Given the description of an element on the screen output the (x, y) to click on. 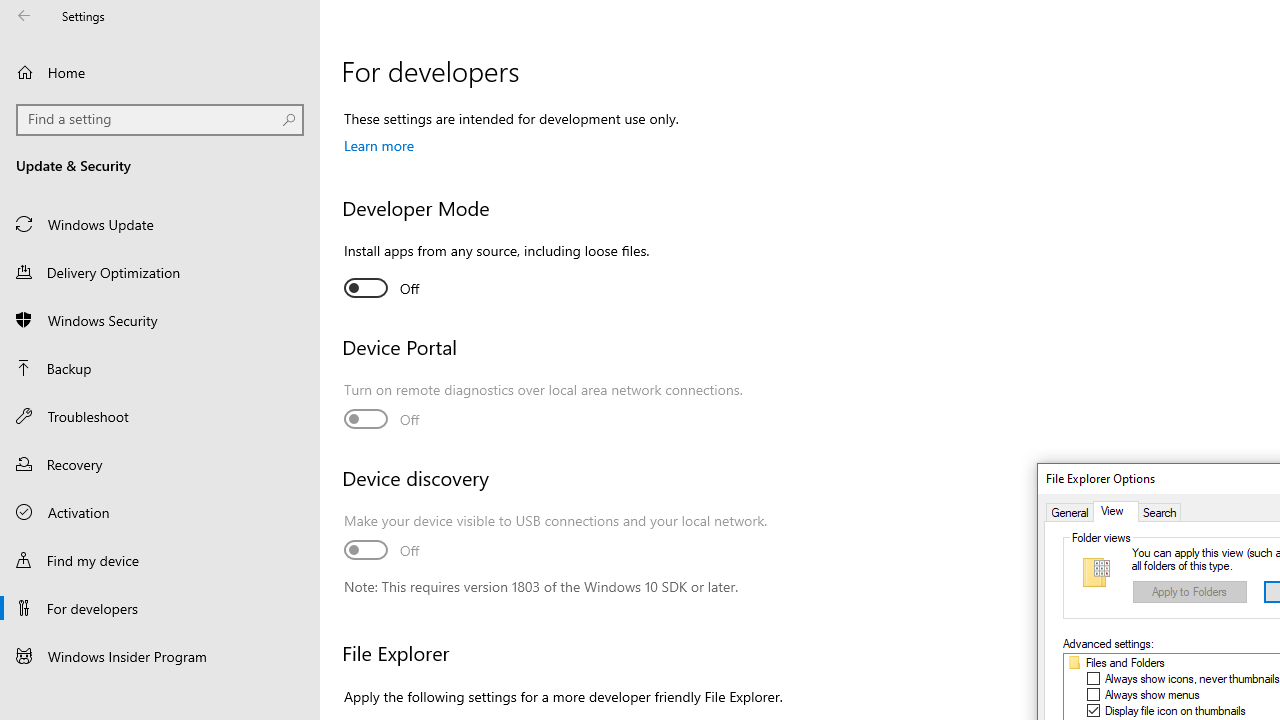
Display file icon on thumbnails (1175, 710)
General (1069, 512)
View (1115, 512)
Search (1159, 512)
Always show menus (1152, 694)
Files and Folders (1125, 663)
Apply to Folders (1189, 592)
